Given the description of an element on the screen output the (x, y) to click on. 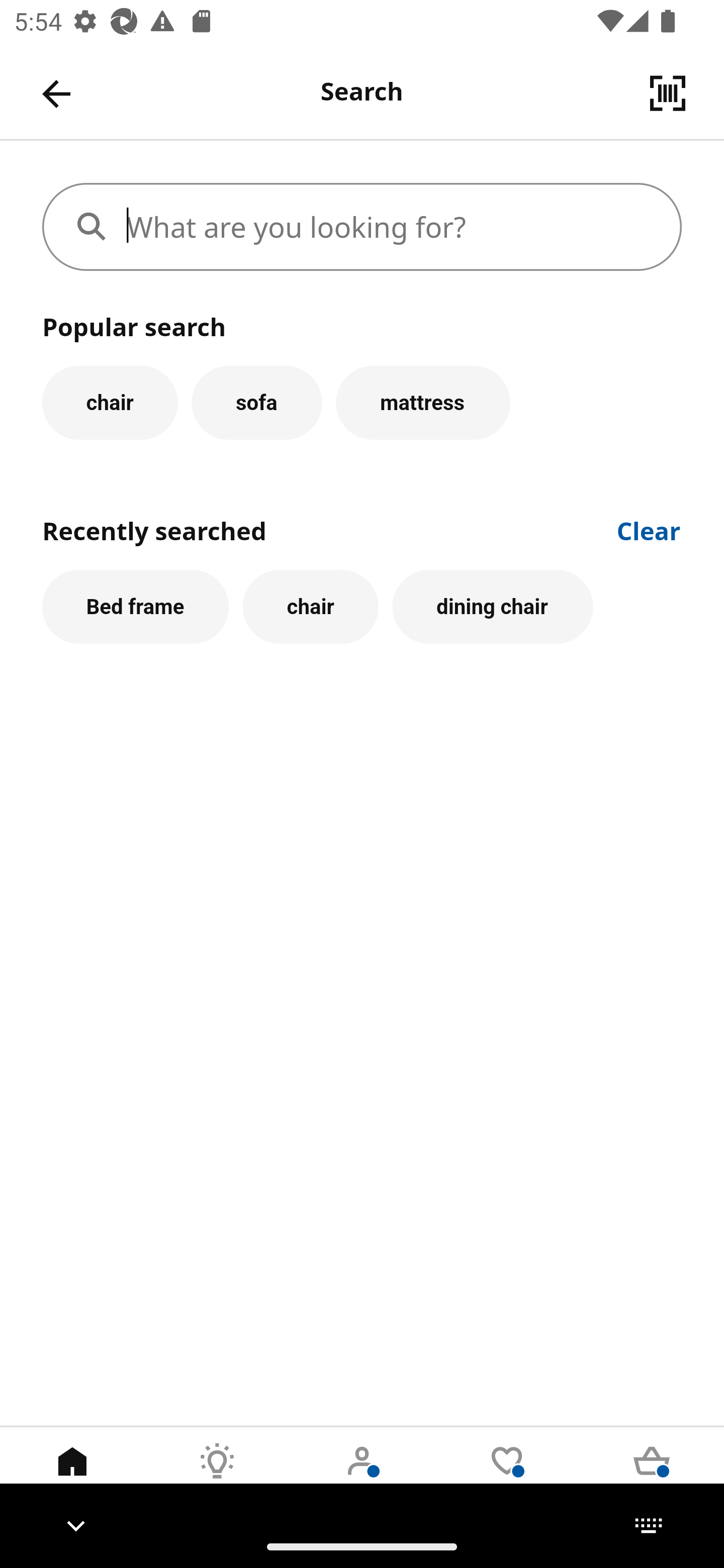
chair (109, 402)
sofa (256, 402)
mattress (423, 402)
Clear (649, 528)
Bed frame (134, 606)
chair (310, 606)
dining chair (492, 606)
Home
Tab 1 of 5 (72, 1476)
Inspirations
Tab 2 of 5 (216, 1476)
User
Tab 3 of 5 (361, 1476)
Wishlist
Tab 4 of 5 (506, 1476)
Cart
Tab 5 of 5 (651, 1476)
